Given the description of an element on the screen output the (x, y) to click on. 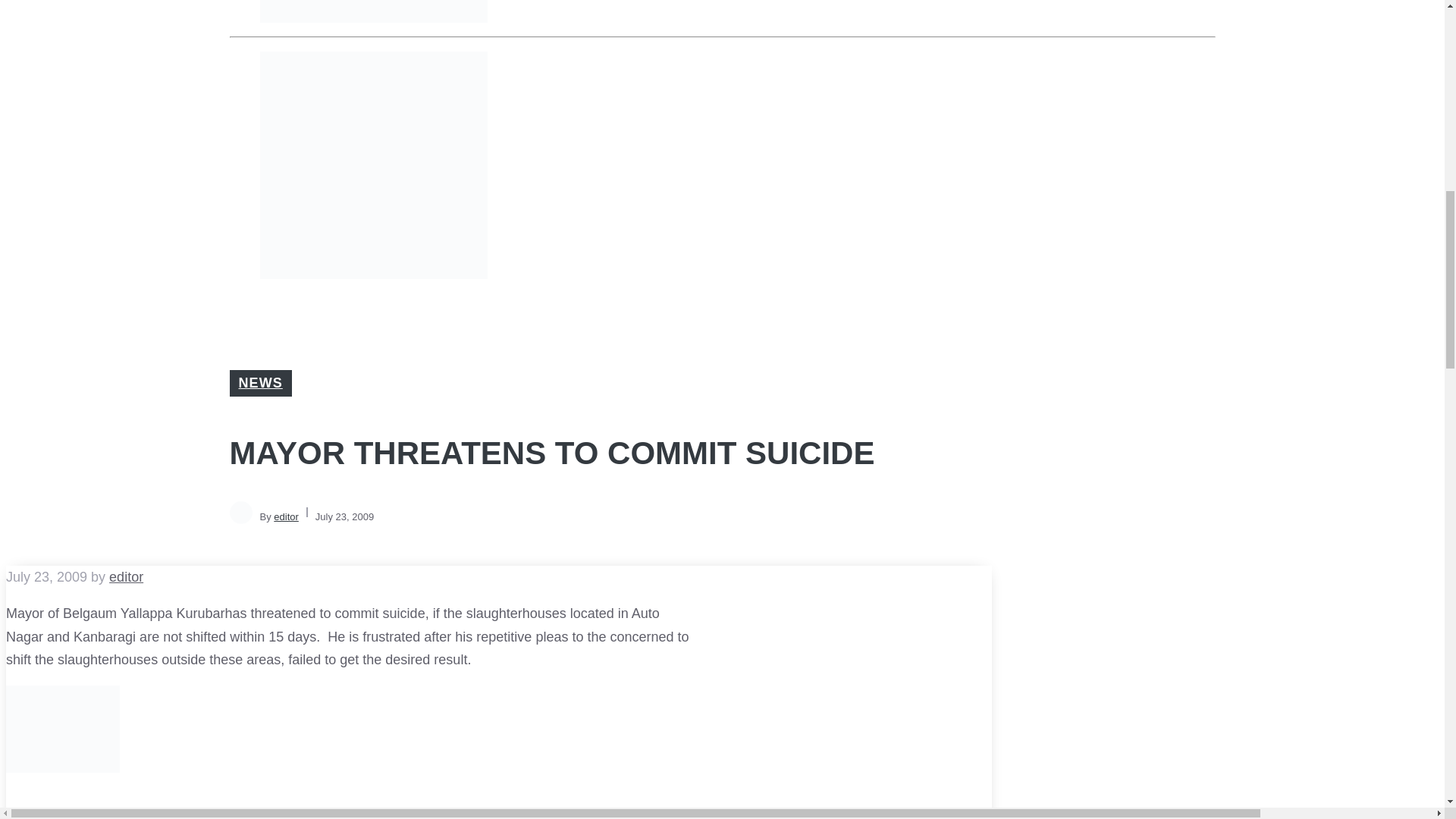
editor (285, 516)
NEWS (260, 382)
yallapakurbarmayor (62, 729)
editor (125, 576)
View all posts by editor (125, 576)
